Given the description of an element on the screen output the (x, y) to click on. 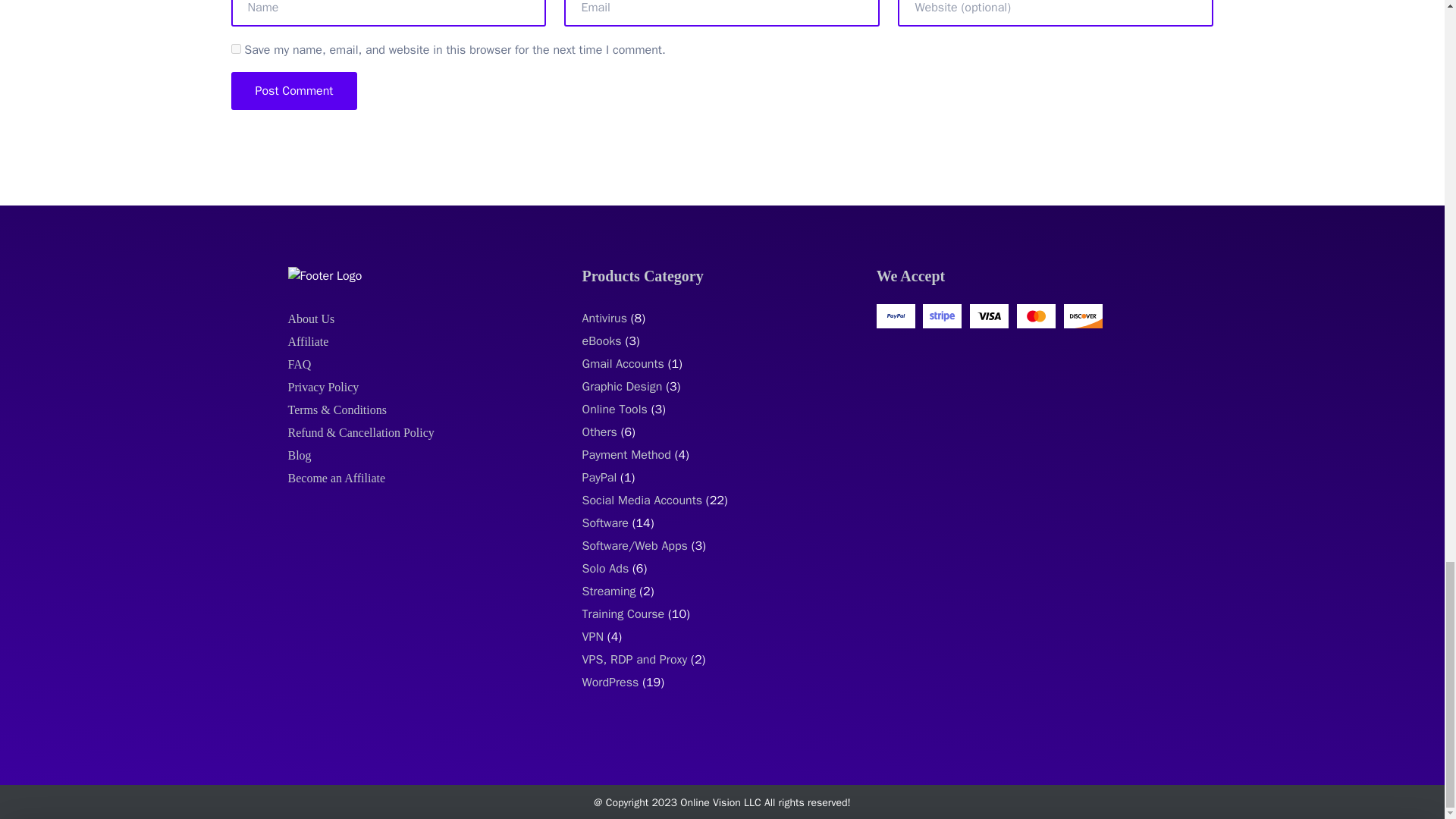
Post Comment (293, 90)
yes (235, 49)
